Given the description of an element on the screen output the (x, y) to click on. 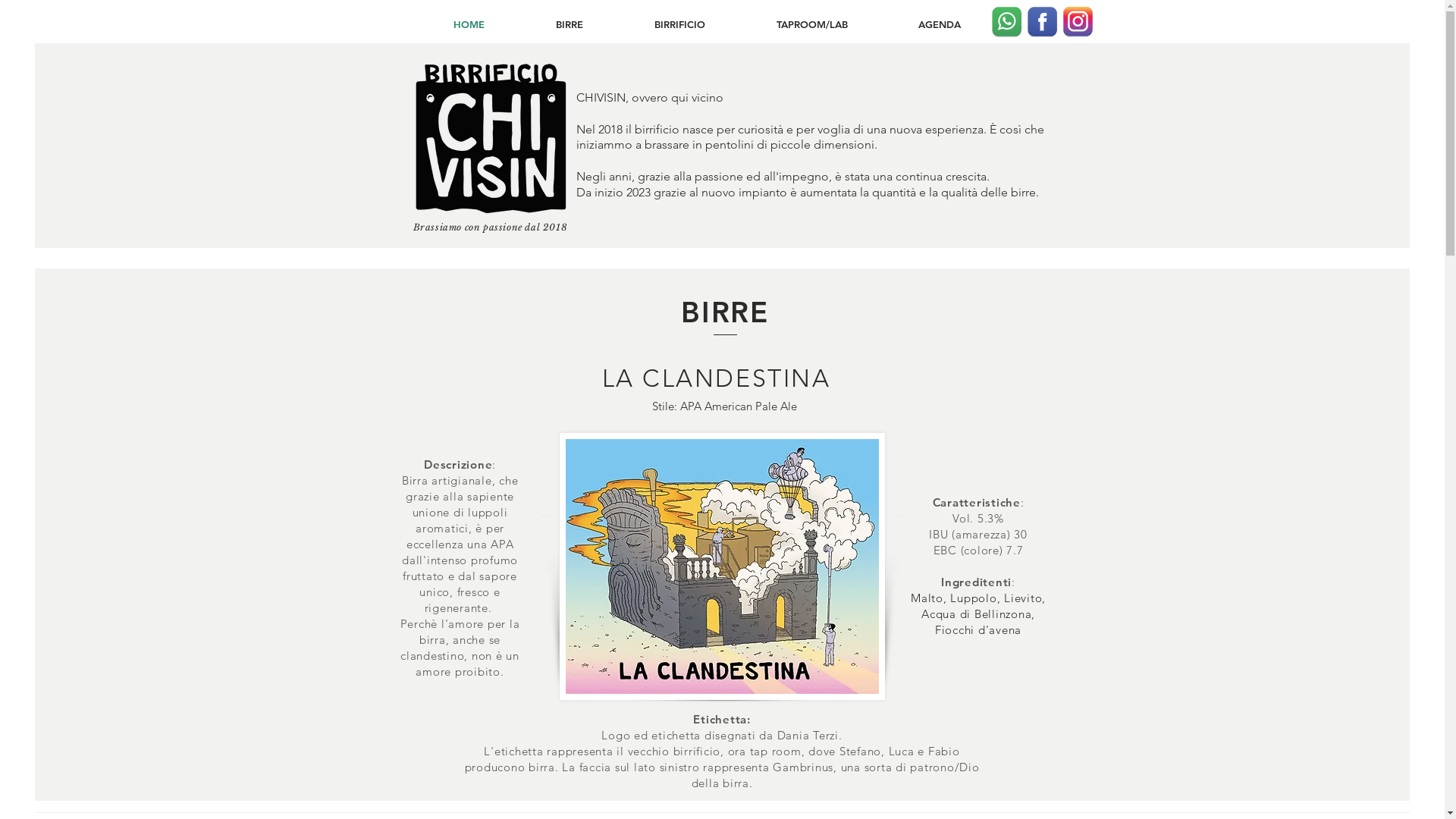
HOME Element type: text (468, 23)
Logo_Chivisin_trasparente_web.png Element type: hover (490, 139)
BIRRE Element type: text (569, 23)
BIRRIFICIO Element type: text (679, 23)
vai alla nostra pagina Element type: hover (1041, 21)
AGENDA Element type: text (938, 23)
TAPROOM/LAB Element type: text (811, 23)
vai alla nostra pagina Element type: hover (1077, 21)
scrivici Element type: hover (1006, 21)
